Given the description of an element on the screen output the (x, y) to click on. 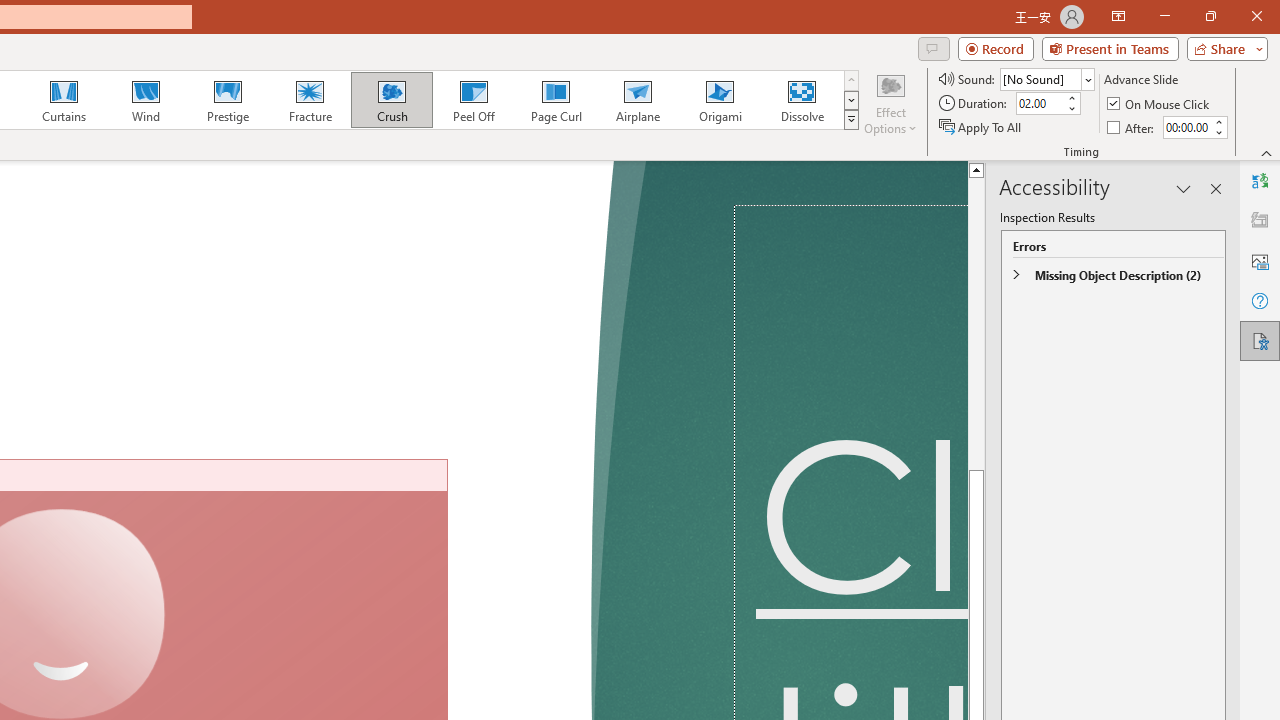
Crush (391, 100)
On Mouse Click (1159, 103)
Transition Effects (850, 120)
Prestige (227, 100)
Origami (719, 100)
